Given the description of an element on the screen output the (x, y) to click on. 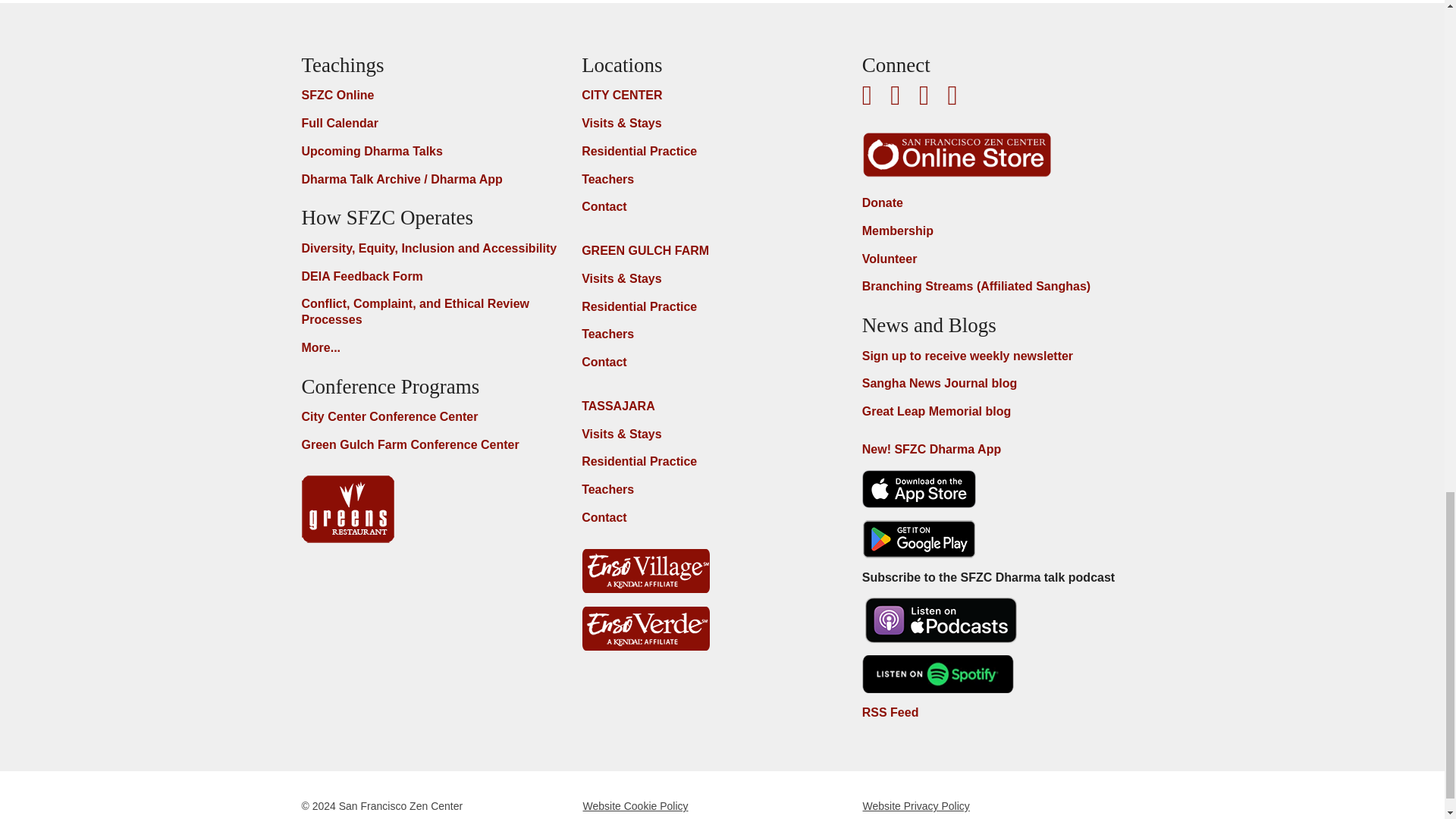
CITY CENTER (627, 95)
Full Calendar (345, 123)
More... (327, 348)
Diversity, Equity, Inclusion and Accessibility (435, 248)
Conflict, Complaint, and Ethical Review Processes (441, 312)
City Center Conference Center (395, 417)
SFZC Online (344, 95)
Upcoming Dharma Talks (377, 152)
DEIA Feedback Form (368, 276)
Green Gulch Farm Conference Center (416, 445)
